Given the description of an element on the screen output the (x, y) to click on. 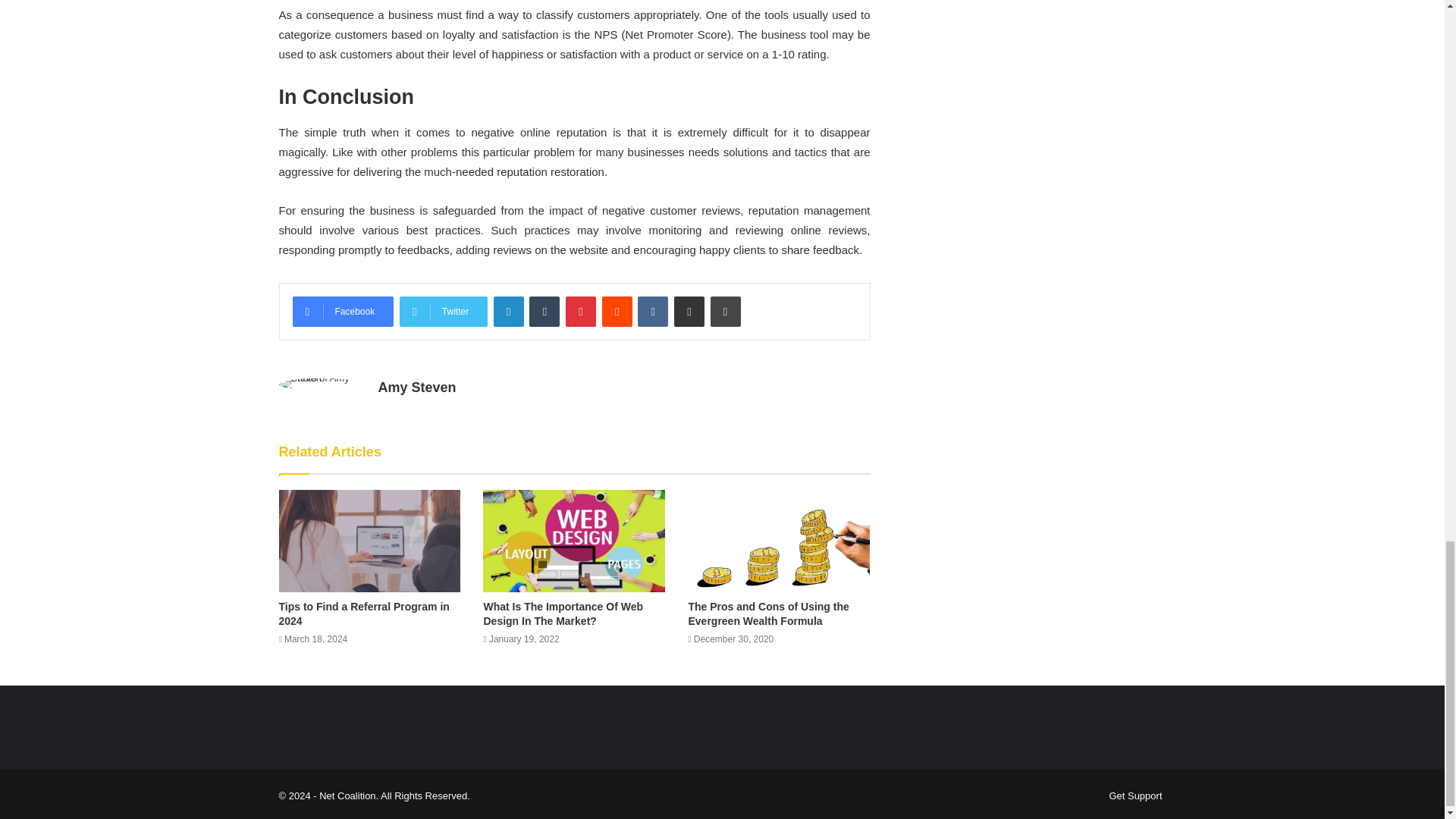
Pinterest (580, 311)
Twitter (442, 311)
Facebook (343, 311)
Reddit (616, 311)
The Pros and Cons of Using the Evergreen Wealth Formula (767, 613)
Amy Steven (416, 387)
Print (725, 311)
Tumblr (544, 311)
LinkedIn (508, 311)
Tips to Find a Referral Program in 2024 (364, 613)
Facebook (343, 311)
Pinterest (580, 311)
Twitter (442, 311)
VKontakte (652, 311)
Print (725, 311)
